Given the description of an element on the screen output the (x, y) to click on. 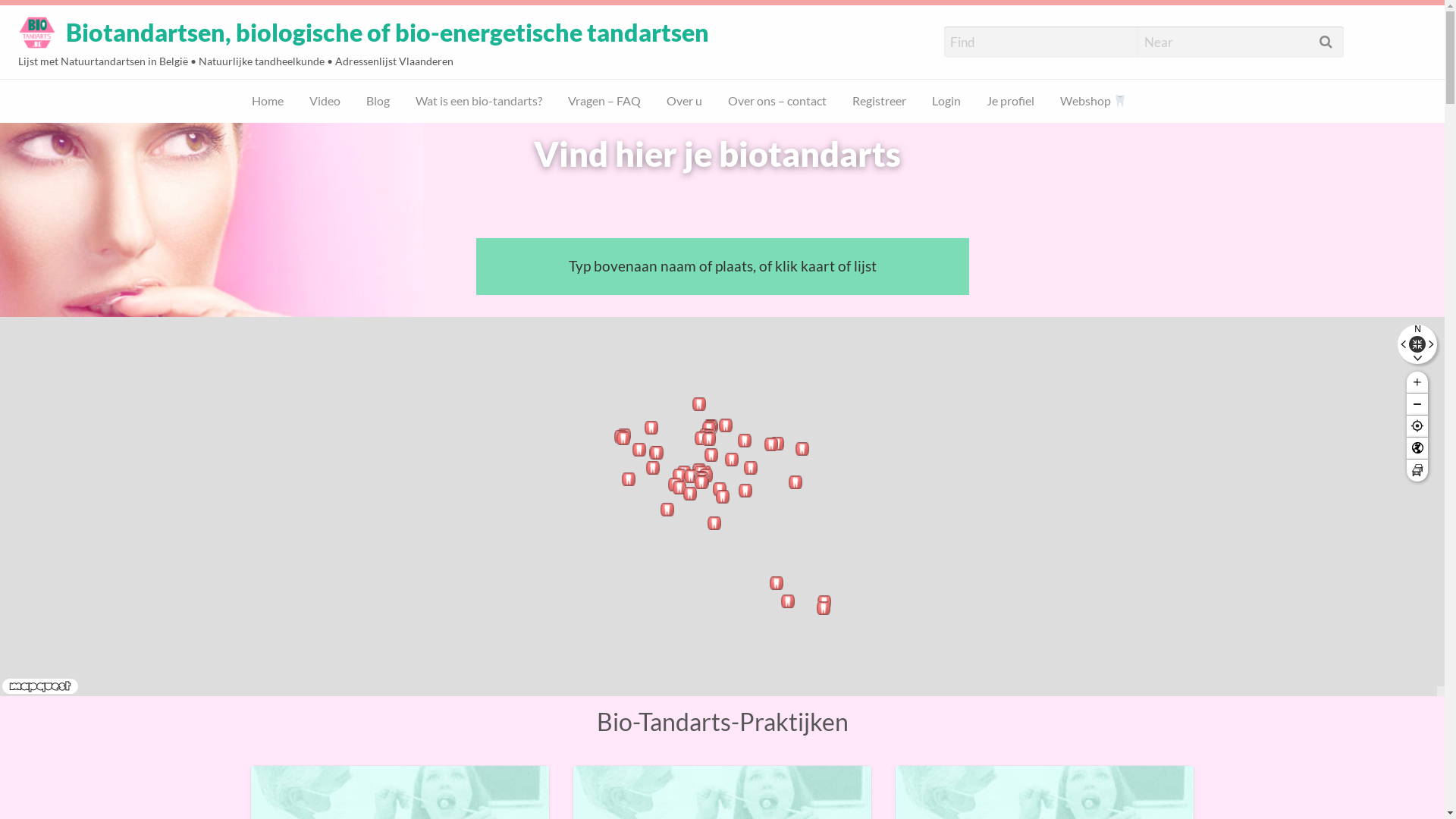
Gertie Daerden Element type: hover (770, 443)
Patrick Engels Element type: hover (701, 481)
Erna Andries Element type: hover (744, 440)
Registreer Element type: text (305, 140)
Wat is een bio-tandarts? Element type: text (478, 101)
Pan East Element type: hover (1429, 344)
Stefan Van Boom Element type: hover (701, 437)
Over u Element type: text (163, 140)
Paul De Temmerman Element type: hover (650, 427)
Kasriel Laurent Element type: hover (701, 478)
Video Element type: text (324, 101)
Vera Ceuterickx Element type: hover (690, 475)
Anne Dubois Element type: hover (689, 493)
Lieven Vandewalle Element type: hover (708, 438)
Login Element type: text (378, 140)
Biotandartsen, biologische of bio-energetische tandartsen Element type: text (387, 32)
Pan North Element type: hover (1417, 331)
Paul Jouret Element type: hover (620, 436)
David De Baere Element type: hover (652, 467)
Messidor Implant Center Element type: hover (701, 478)
Caroline Wallaeys Element type: hover (638, 449)
Dental Clinics Antwerpen Element type: hover (705, 434)
Zoom In Element type: hover (1416, 381)
Pascal Eppe Element type: hover (787, 600)
Beatrijs De Ruyter Element type: hover (683, 472)
Liliana Vanelslander Element type: hover (710, 454)
Mondzorgkliniek Boerhaaveplein B.V. Element type: hover (698, 403)
Webshop Element type: text (513, 140)
Inge Dirckx Element type: hover (674, 484)
Home Element type: text (267, 101)
Dentius Ninove Element type: hover (679, 475)
Mondcentrum Eyckholt Element type: hover (801, 448)
Geert Van Moerbeke Element type: hover (622, 437)
Satellite Element type: hover (1416, 447)
Raf Gijsemans Element type: hover (710, 425)
Login Element type: text (946, 101)
Locator Element type: hover (1416, 425)
Daphne Hermans Element type: hover (776, 443)
Pan South Element type: hover (1417, 356)
F. Wijono Element type: hover (710, 425)
Luc Bas Element type: hover (750, 467)
Dento Faciale Kliniek Element type: hover (628, 478)
Abeling bv Tandartsenpraktijk Element type: hover (795, 481)
Blog Element type: text (377, 101)
Sarah Werrebrouck Element type: hover (700, 477)
Traffic Element type: hover (1416, 469)
Michel Dal Element type: hover (707, 437)
Registreer Element type: text (879, 101)
Jean-Guy Closset Element type: hover (666, 509)
Bart Depre Element type: hover (731, 459)
Cabinet Dentaire Guido Lambrechts Element type: hover (823, 601)
Je profiel Element type: text (1010, 101)
Serge Henrotte Element type: hover (704, 472)
Over u Element type: text (684, 101)
Catherine Laureys Element type: hover (701, 481)
Reset Map Element type: hover (1416, 343)
Paul Peere Element type: hover (623, 434)
Pan West Element type: hover (1404, 344)
Jean Huynen Element type: hover (710, 426)
Erwin Musch Element type: hover (679, 487)
Webshop Element type: text (1093, 101)
I-Smile Tandartspraktijk Element type: hover (725, 425)
Je profiel Element type: text (439, 140)
Walter Delporte Element type: hover (708, 435)
Navigation Element type: hover (1417, 344)
Zoom Out Element type: hover (1416, 403)
Jecta Dental Clinic Element type: hover (698, 469)
Search Element type: text (29, 16)
Franco Scippo Element type: hover (713, 522)
Center for Biological Dentistry Element type: hover (823, 607)
Respire Clinic Element type: hover (655, 452)
Corinne Vertessen Element type: hover (719, 488)
Dental Clinics Belgica Element type: hover (700, 472)
